Given the description of an element on the screen output the (x, y) to click on. 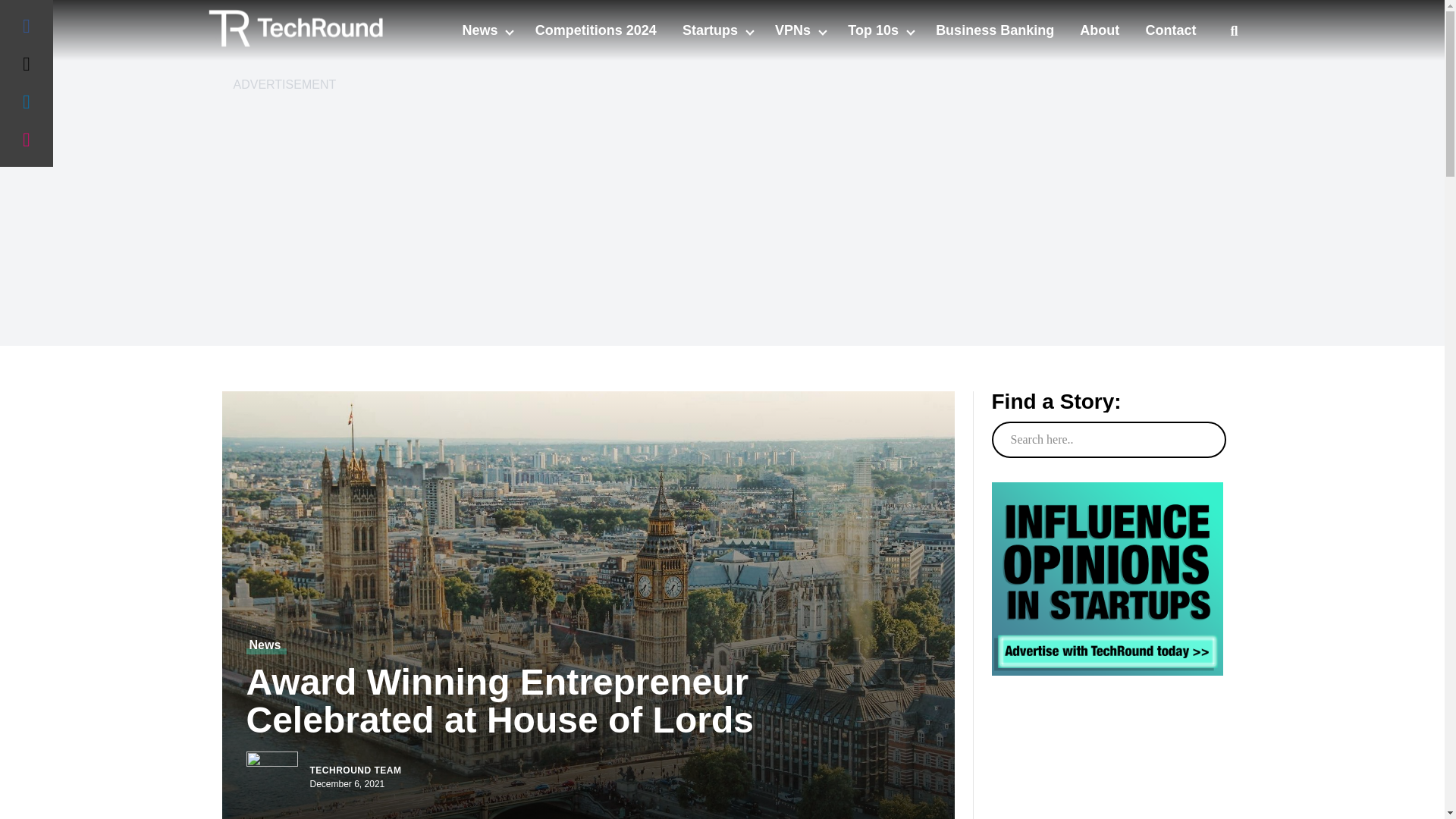
Advertisement (1107, 777)
